Given the description of an element on the screen output the (x, y) to click on. 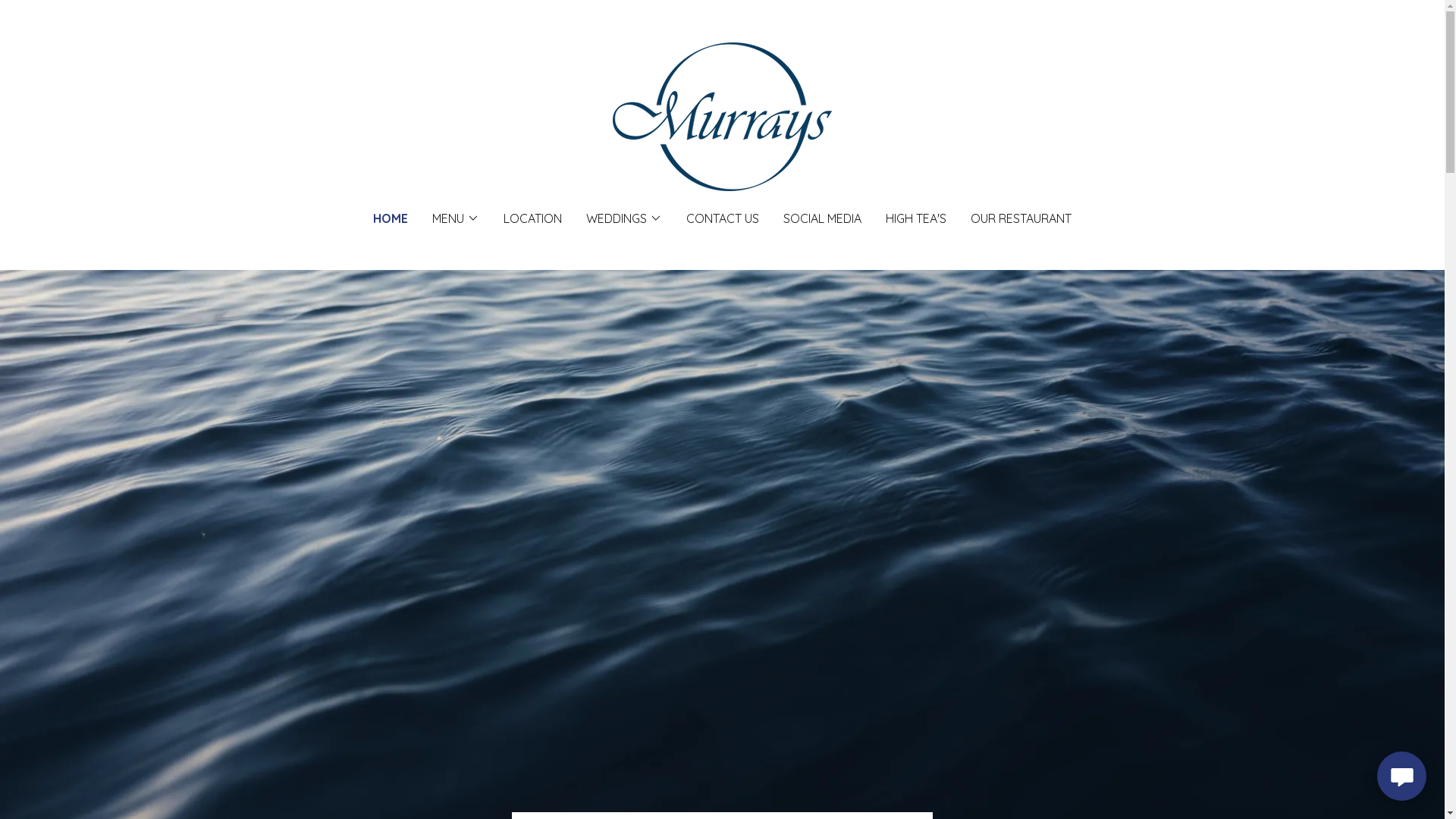
HOME Element type: text (390, 218)
MENU Element type: text (455, 218)
SOCIAL MEDIA Element type: text (822, 218)
HIGH TEA'S Element type: text (915, 218)
OUR RESTAURANT Element type: text (1021, 218)
Murrays Element type: hover (721, 115)
CONTACT US Element type: text (722, 218)
LOCATION Element type: text (532, 218)
WEDDINGS Element type: text (624, 218)
